Given the description of an element on the screen output the (x, y) to click on. 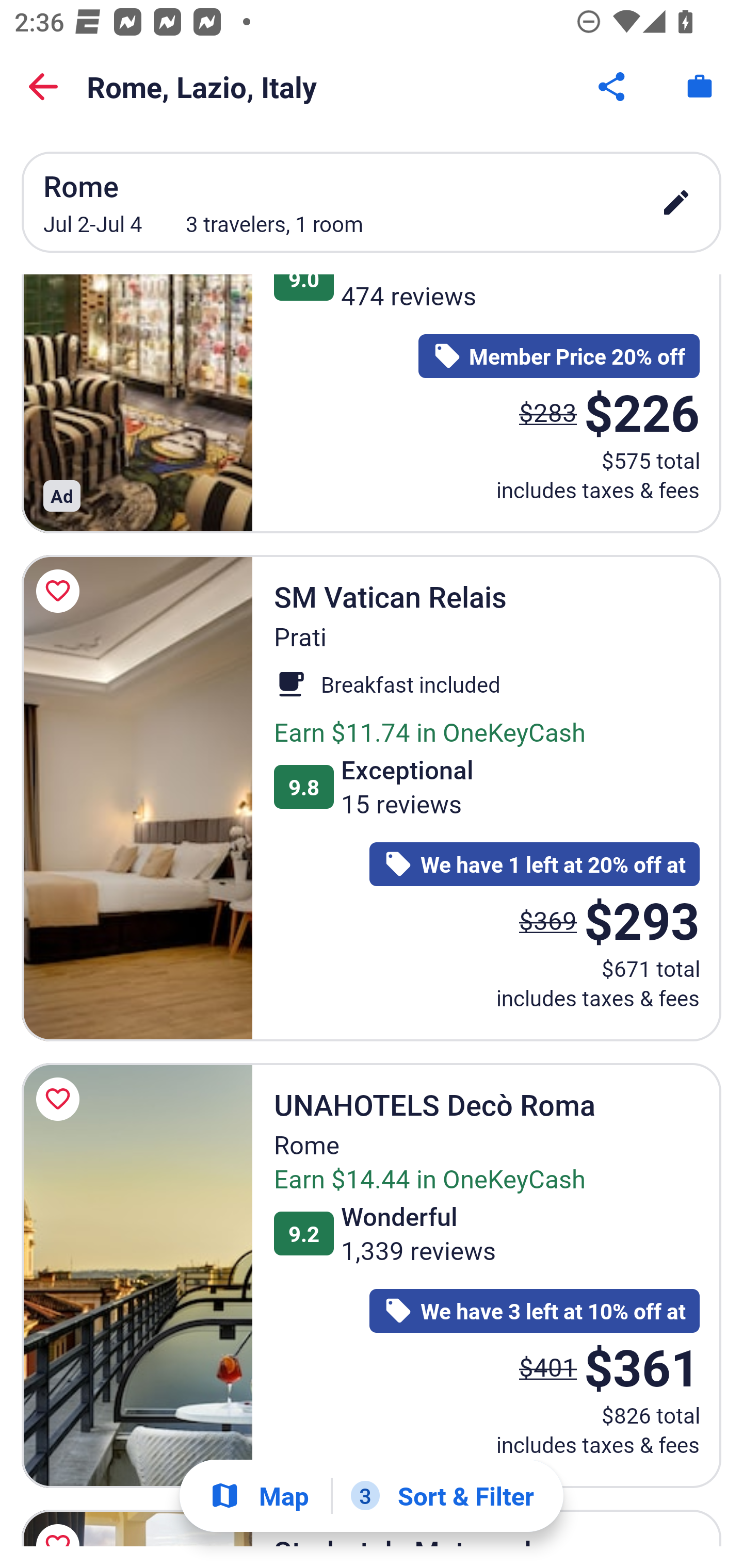
Back (43, 86)
Share Button (612, 86)
Trips. Button (699, 86)
Rome Jul 2-Jul 4 3 travelers, 1 room edit (371, 202)
Mama Shelter Roma  (136, 403)
$283 The price was $283 (547, 411)
Save SM Vatican Relais to a trip (61, 591)
SM Vatican Relais (136, 798)
$369 The price was $369 (547, 919)
Save UNAHOTELS Decò Roma to a trip (61, 1099)
UNAHOTELS Decò Roma (136, 1275)
$401 The price was $401 (547, 1366)
3 Sort & Filter 3 Filters applied. Filters Button (442, 1495)
Show map Map Show map Button (258, 1495)
